Given the description of an element on the screen output the (x, y) to click on. 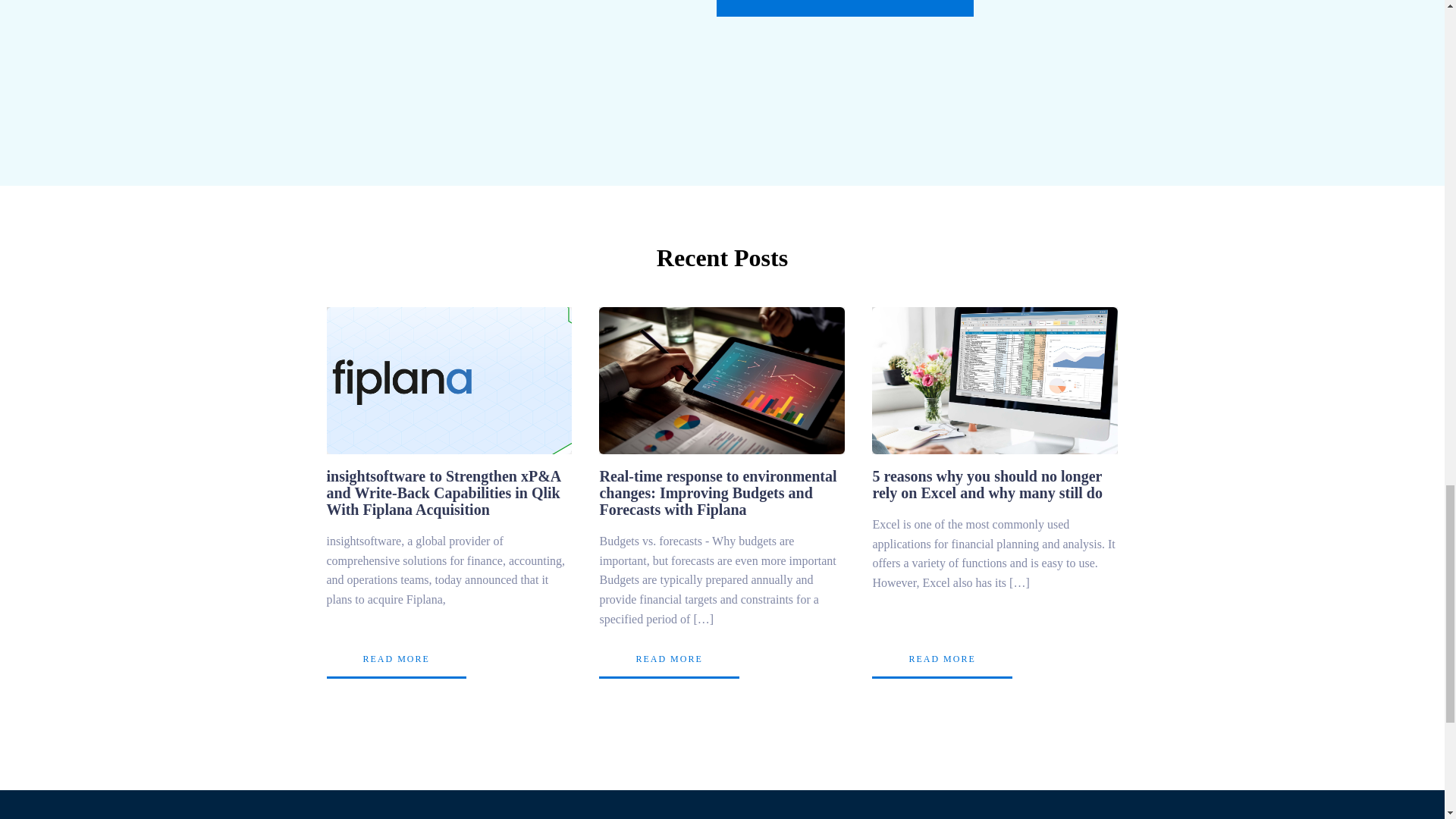
READ MORE (941, 660)
READ MORE (395, 660)
SCHEDULE DEMO (844, 8)
READ MORE (668, 660)
